Given the description of an element on the screen output the (x, y) to click on. 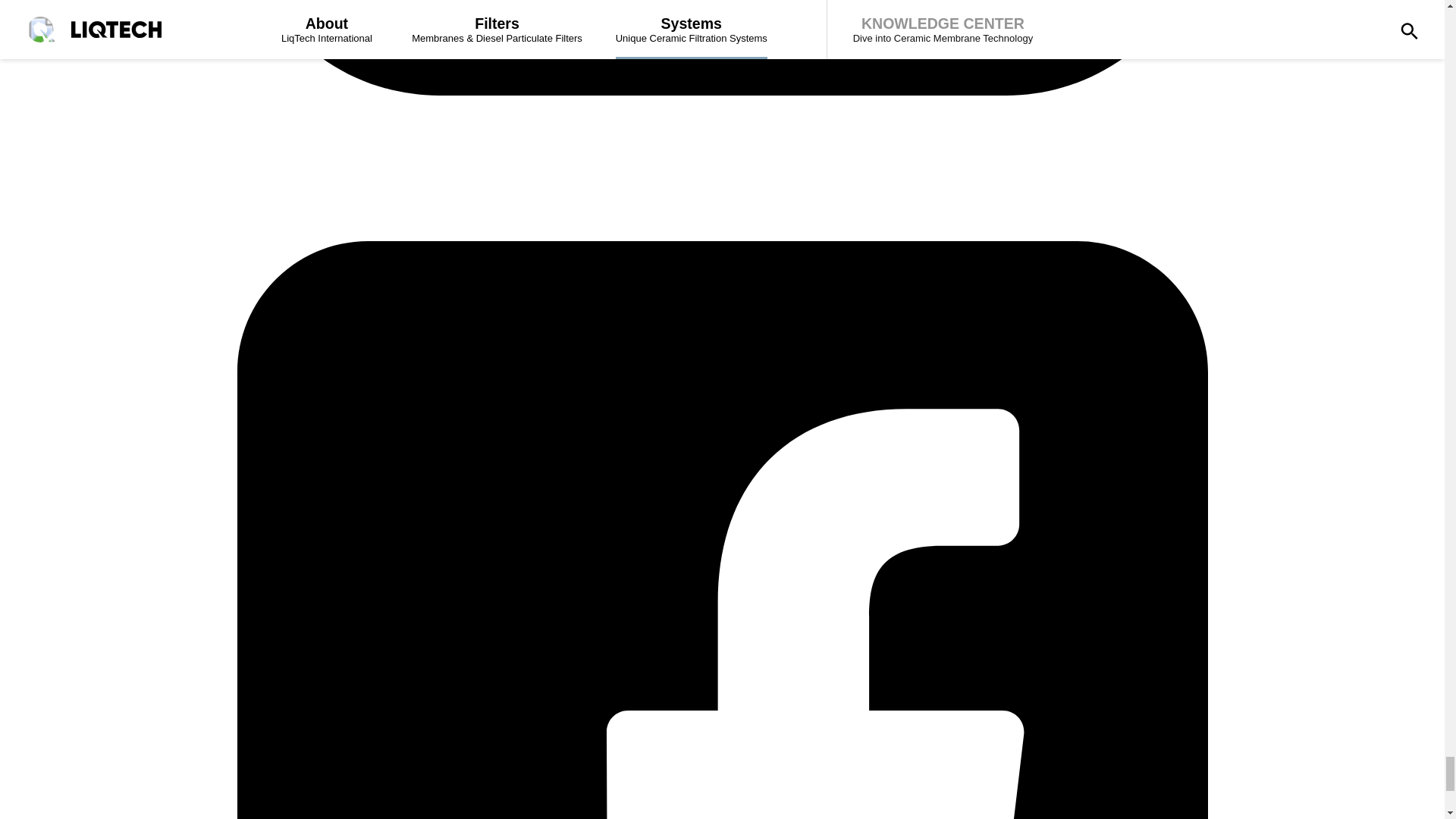
YouTube (721, 233)
